Given the description of an element on the screen output the (x, y) to click on. 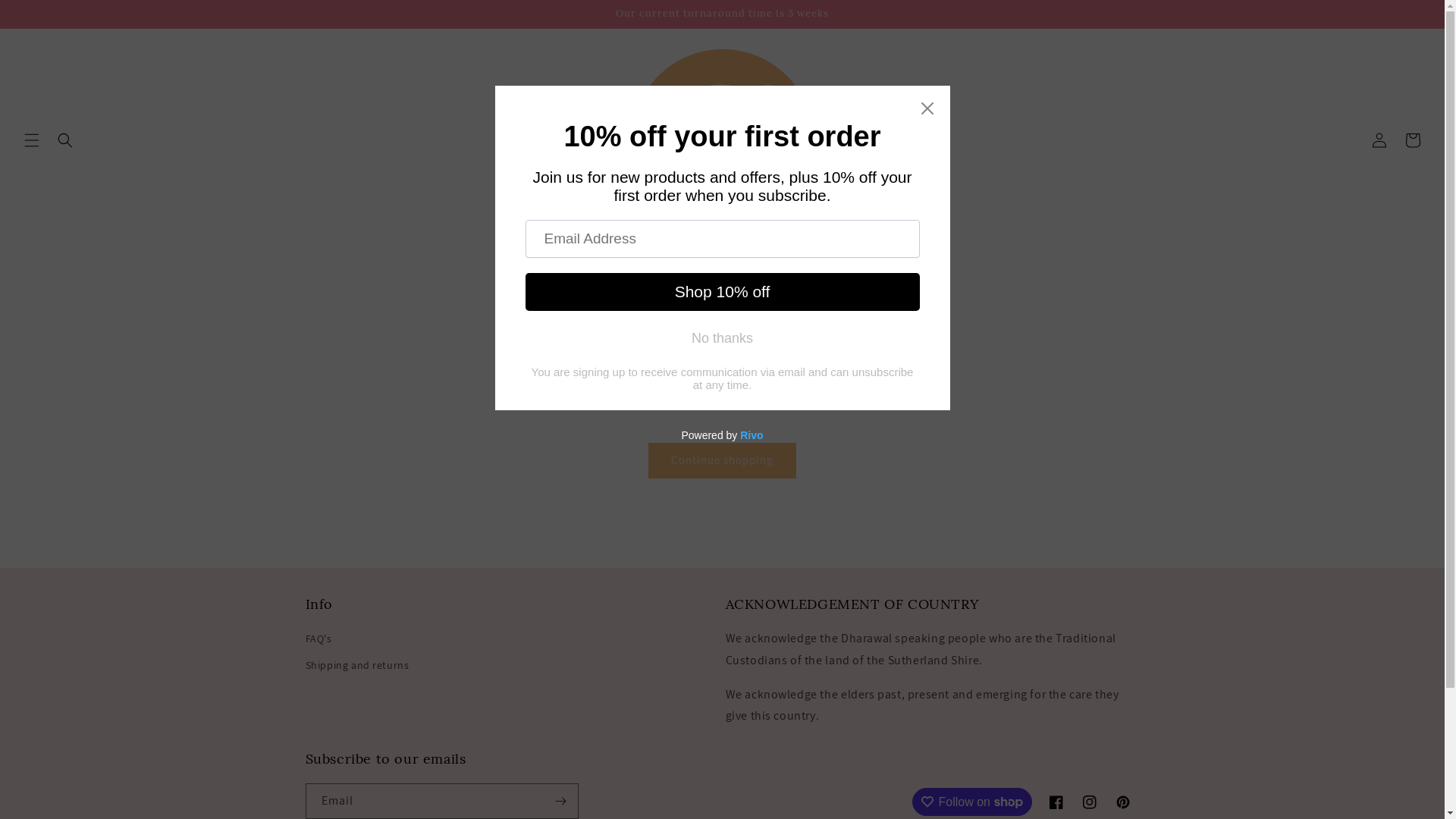
Cart Element type: text (1412, 139)
FAQ's Element type: text (317, 640)
Continue shopping Element type: text (722, 460)
Log in Element type: text (1379, 139)
Shipping and returns Element type: text (356, 665)
